Given the description of an element on the screen output the (x, y) to click on. 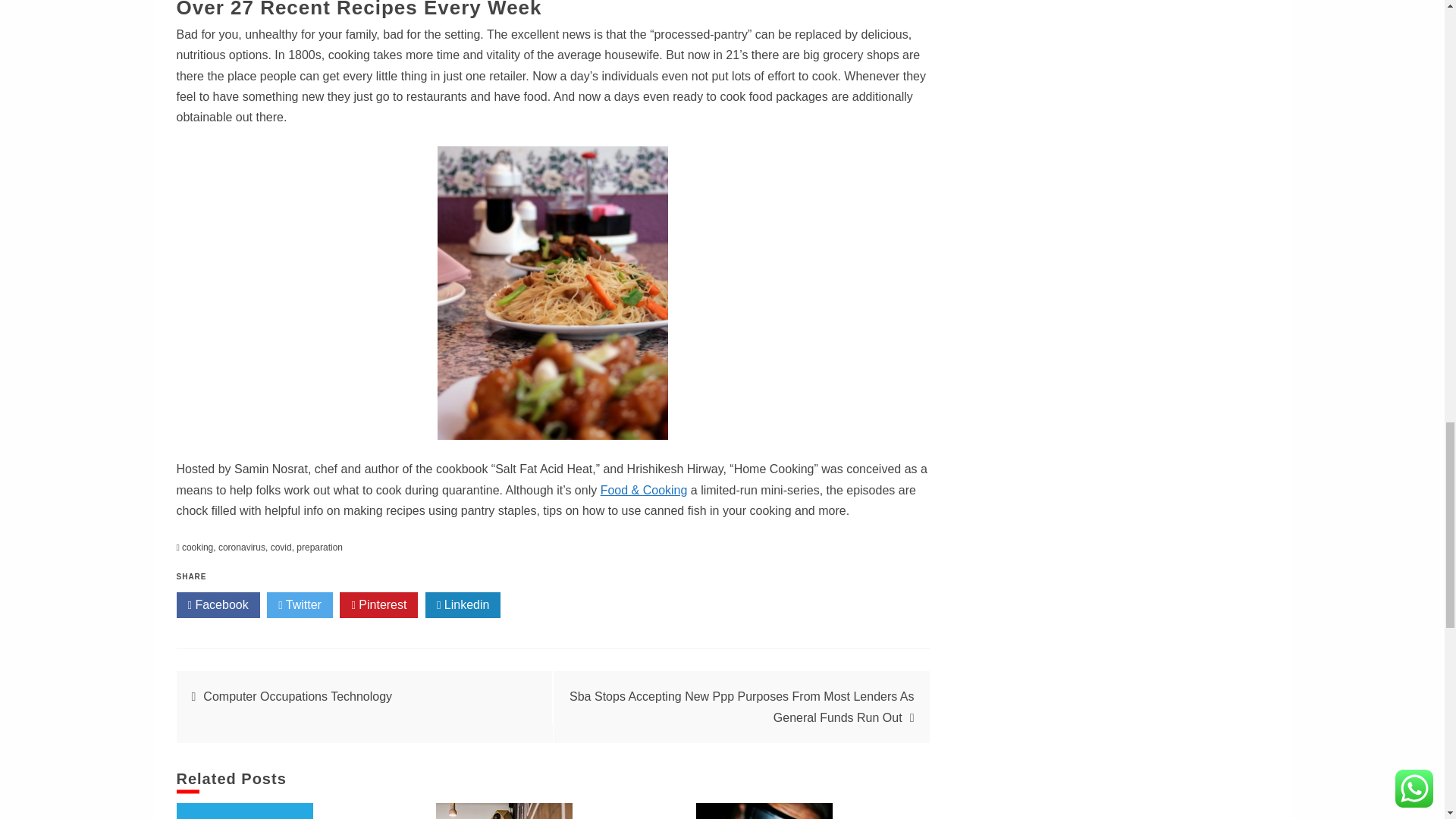
covid (281, 547)
cooking (197, 547)
coronavirus (241, 547)
Six Areas of Specialization For Managerial Accountants (763, 811)
preparation (319, 547)
